Given the description of an element on the screen output the (x, y) to click on. 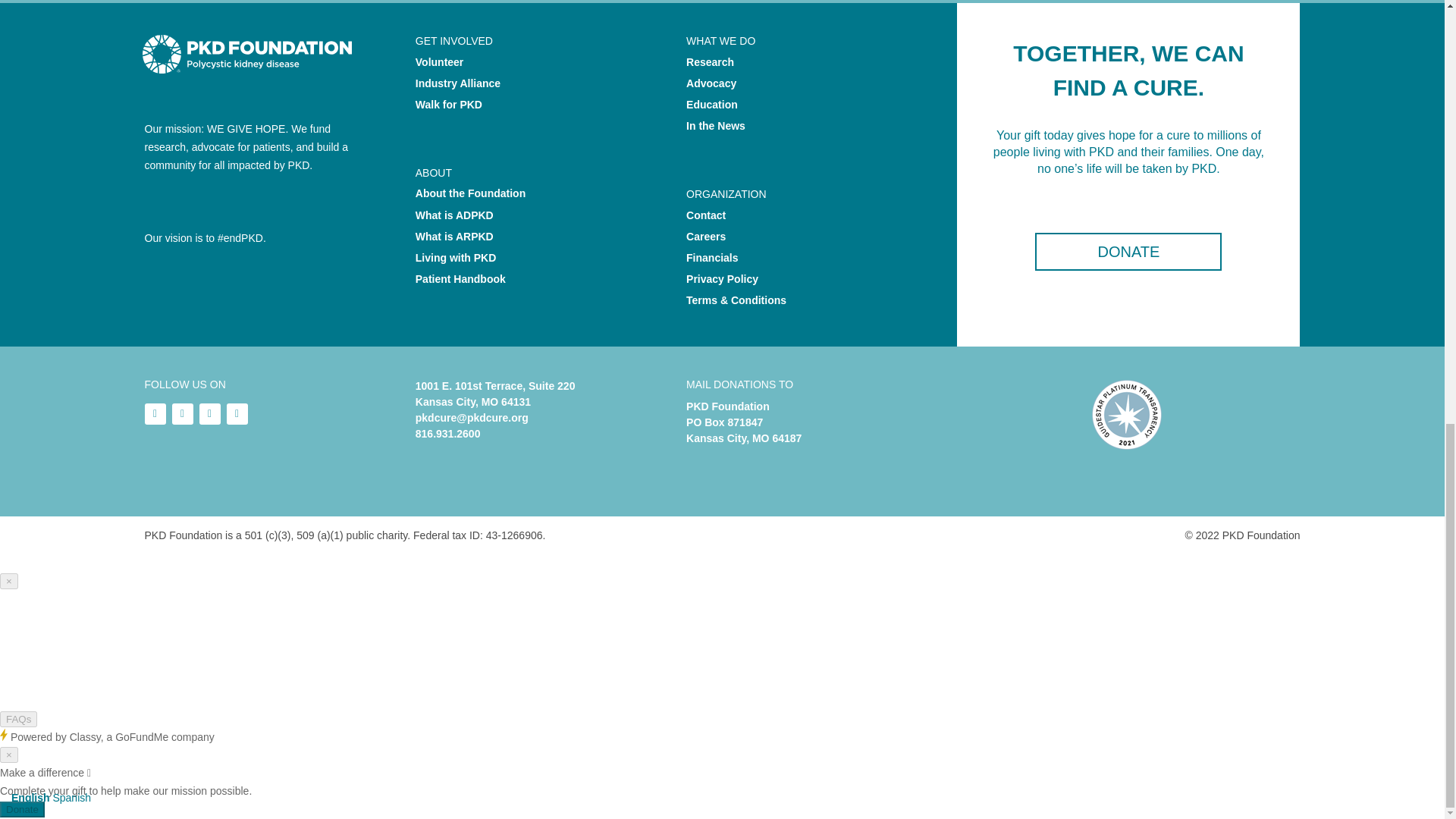
Follow on Twitter (208, 414)
Follow on Facebook (236, 414)
Follow on Youtube (181, 414)
Follow on Instagram (154, 414)
